Given the description of an element on the screen output the (x, y) to click on. 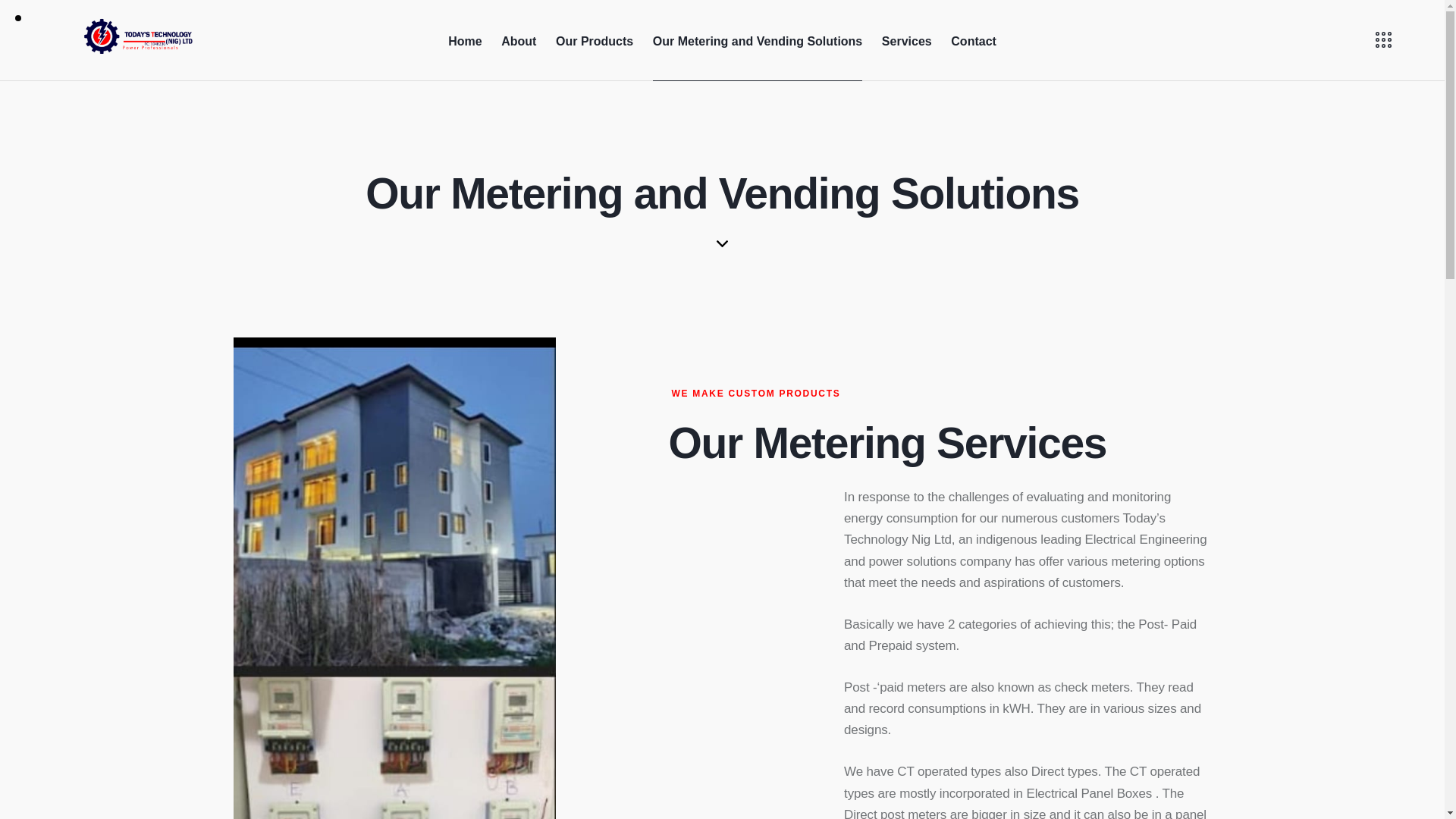
Our Metering and Vending Solutions (757, 40)
Our Products (594, 40)
